Given the description of an element on the screen output the (x, y) to click on. 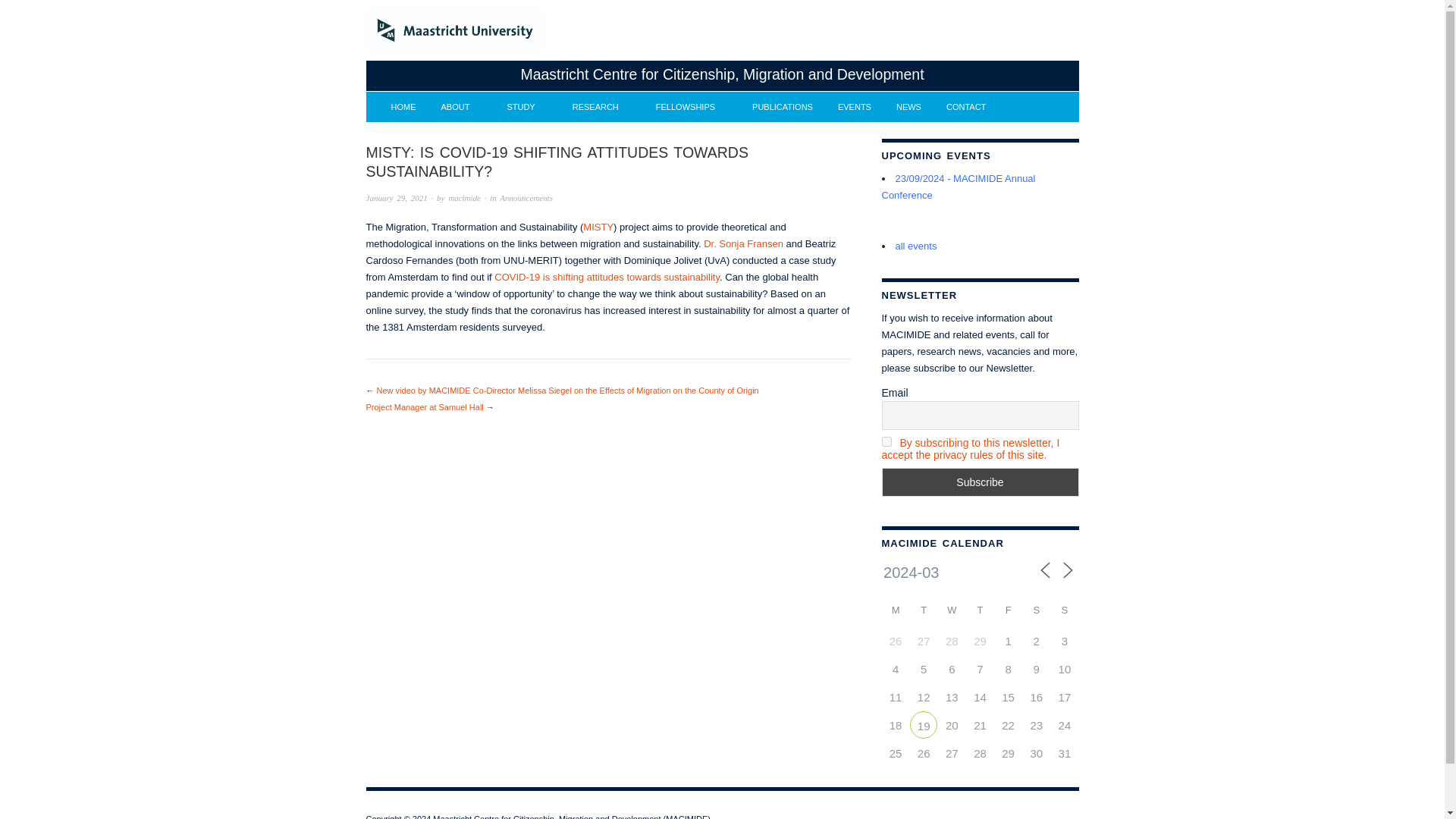
NEWS (908, 107)
HOME (403, 107)
January 29, 2021 (395, 197)
PUBLICATIONS (782, 107)
Announcements (526, 197)
ABOUT (461, 107)
Maastricht University (454, 30)
CONTACT (965, 107)
Subscribe (979, 481)
EVENTS (854, 107)
STUDY (526, 107)
FELLOWSHIPS (691, 107)
2024-03 (942, 572)
Posts by macimide (464, 197)
